Given the description of an element on the screen output the (x, y) to click on. 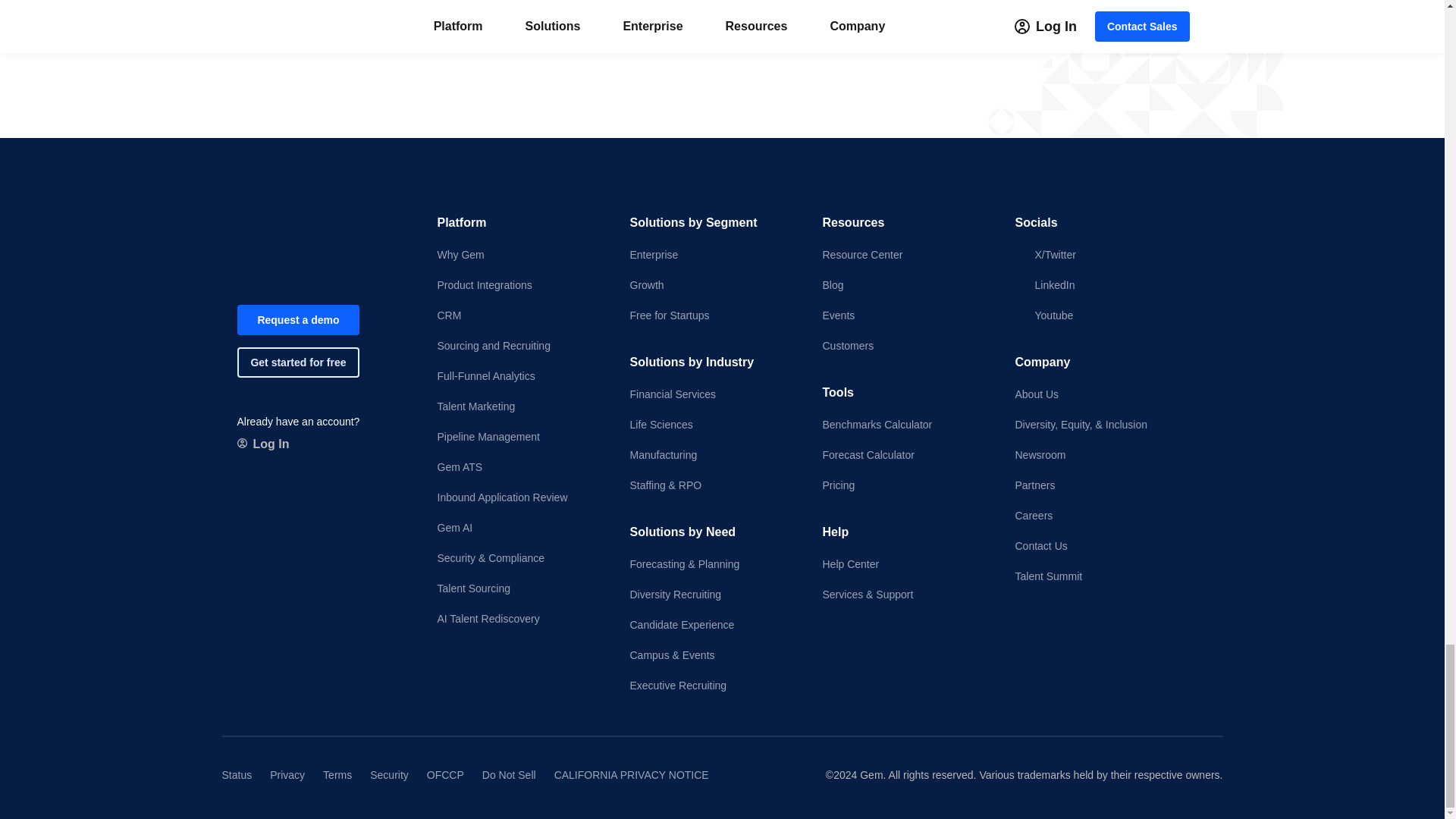
Get started for free (297, 362)
Request a demo (297, 319)
Log In (261, 444)
Why Gem (520, 254)
Product Integrations (520, 284)
